Given the description of an element on the screen output the (x, y) to click on. 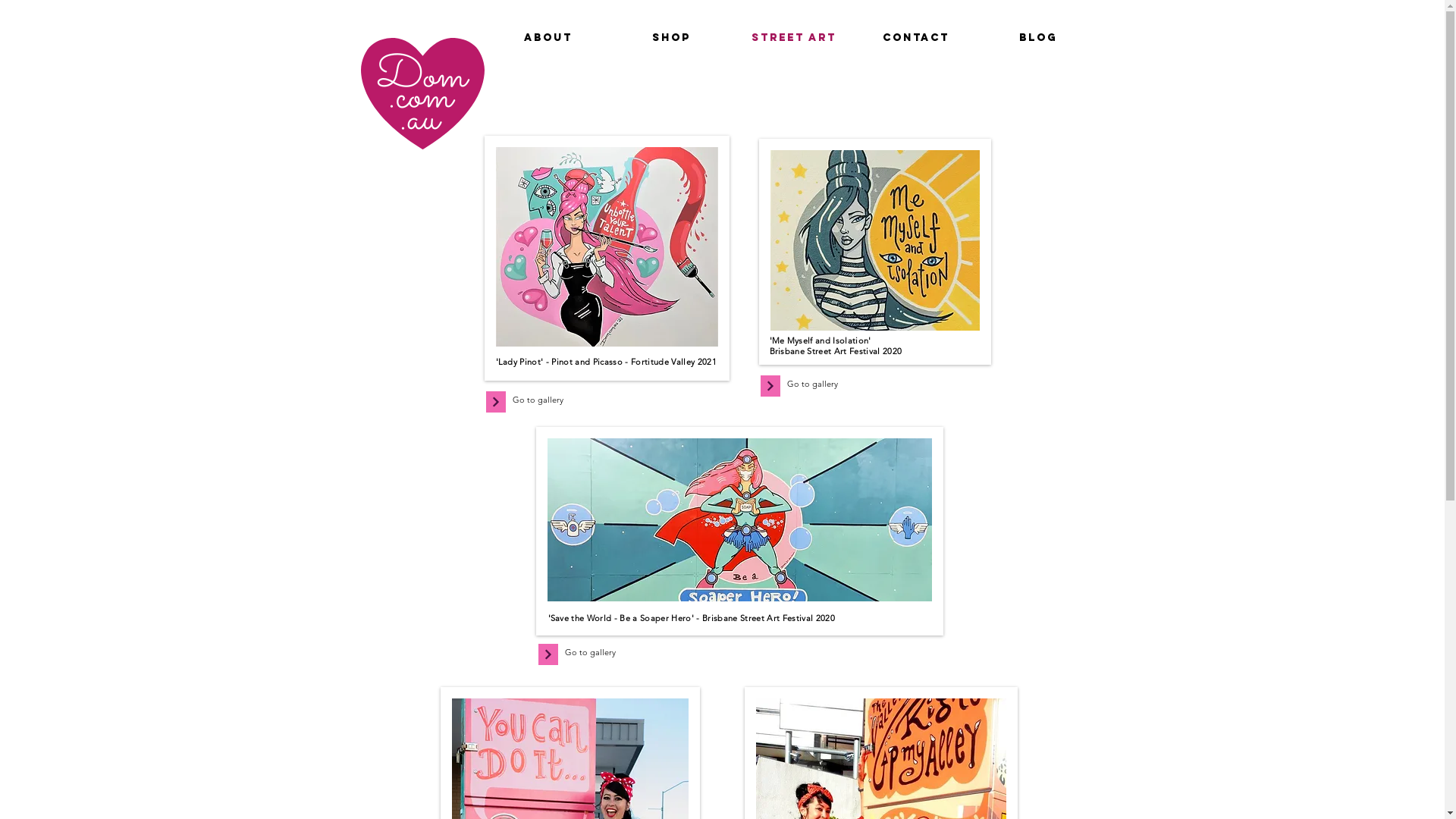
Street Art Element type: text (792, 37)
Blog Element type: text (1037, 37)
Shop Element type: text (670, 37)
Contact Element type: text (915, 37)
About Element type: text (547, 37)
